Given the description of an element on the screen output the (x, y) to click on. 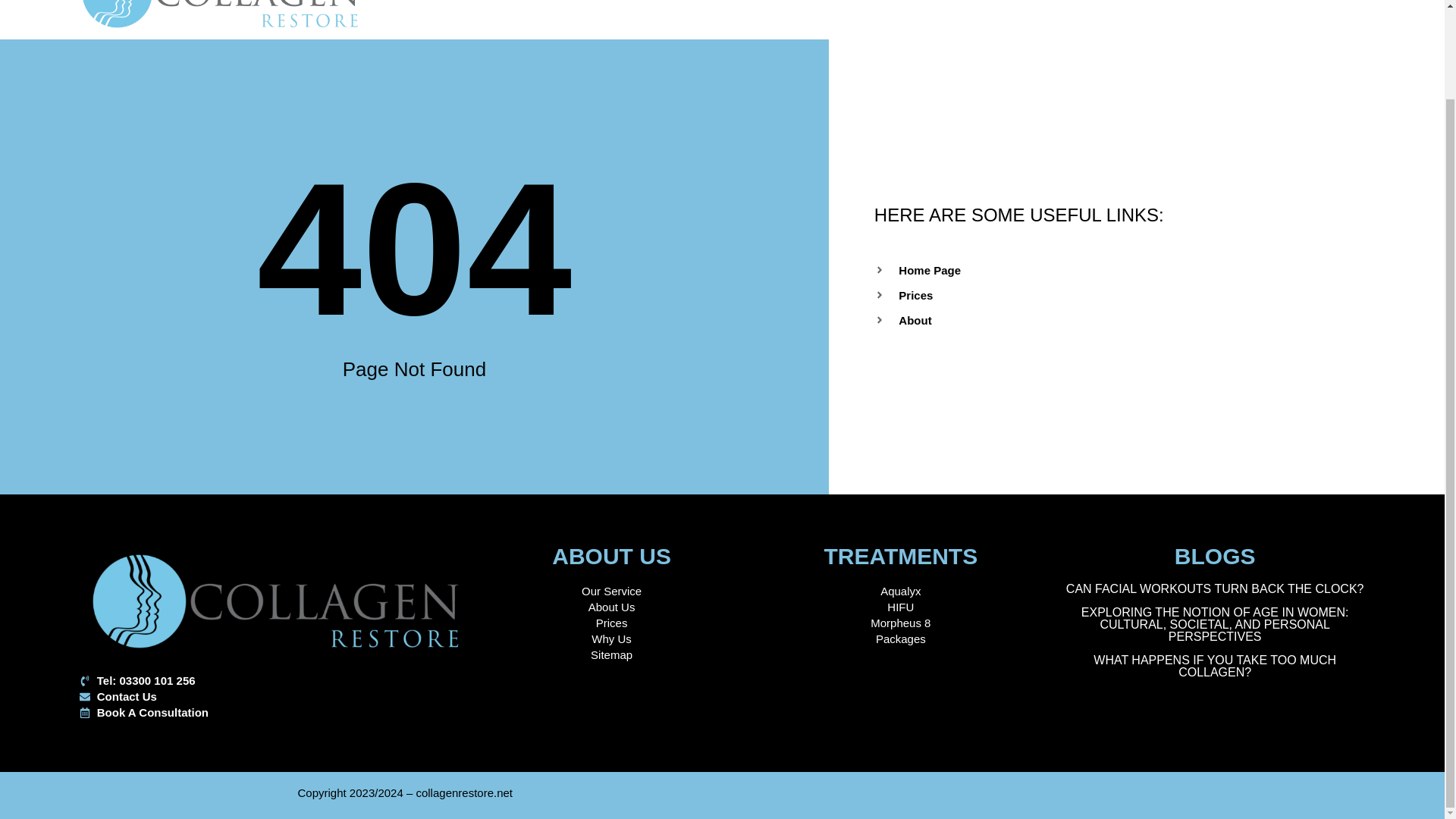
ABOUT US (672, 4)
About Us (611, 606)
BOOK A CONSULTATION (1045, 4)
Our Service (611, 590)
OUR SERVICES (783, 4)
Book A Consultation (275, 712)
Prices (1148, 295)
CONTACT US (901, 4)
Tel: 03300 101 256 (275, 680)
Contact Us (275, 696)
HOME (589, 4)
About (1148, 320)
Home Page (1148, 270)
